Given the description of an element on the screen output the (x, y) to click on. 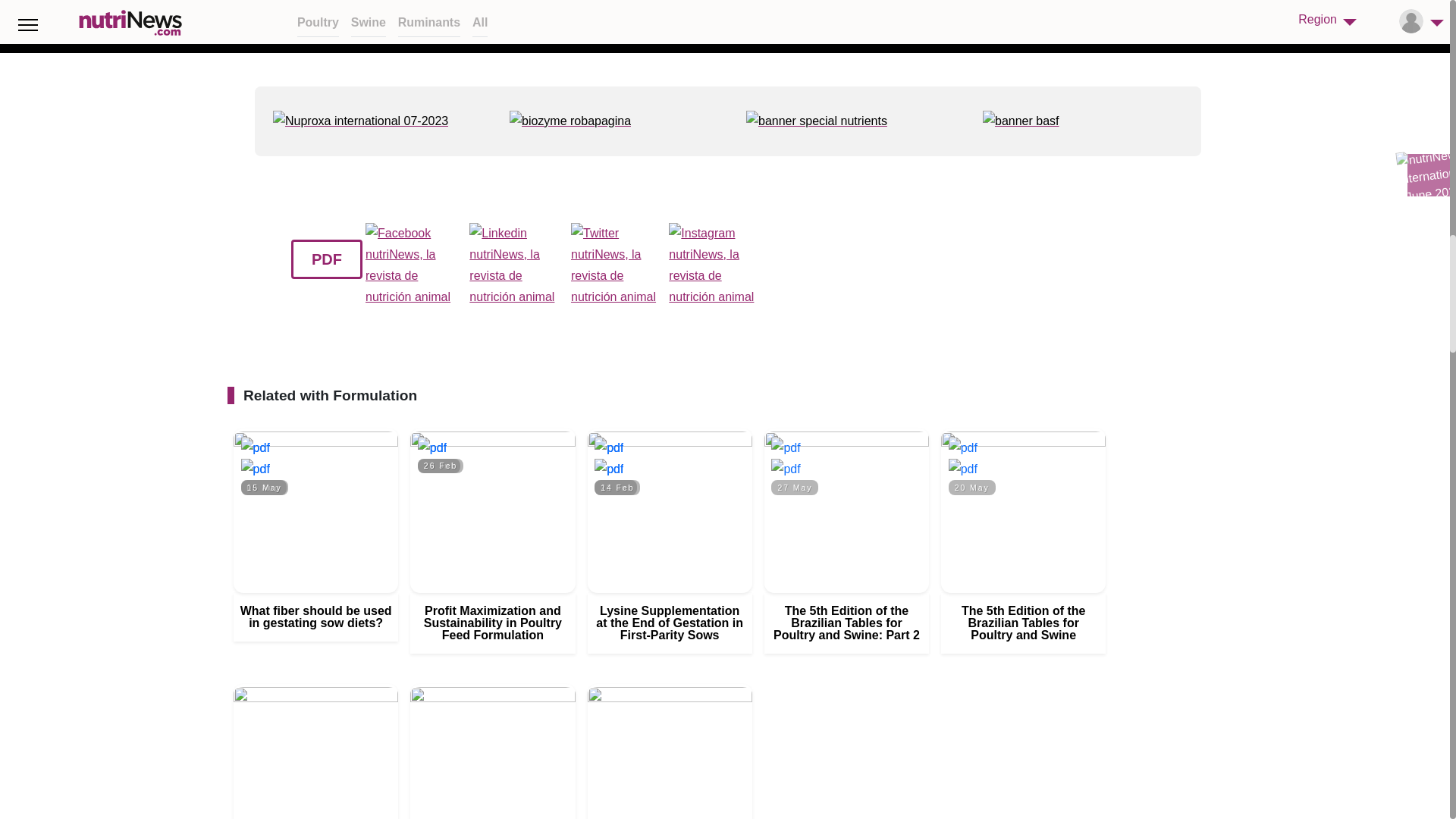
DESCARGAR PDF (785, 447)
Chantal Farmer (608, 469)
DESCARGAR PDF (608, 447)
DESCARGAR PDF (255, 447)
DESCARGAR PDF (431, 447)
DESCARGAR PDF (962, 447)
